Given the description of an element on the screen output the (x, y) to click on. 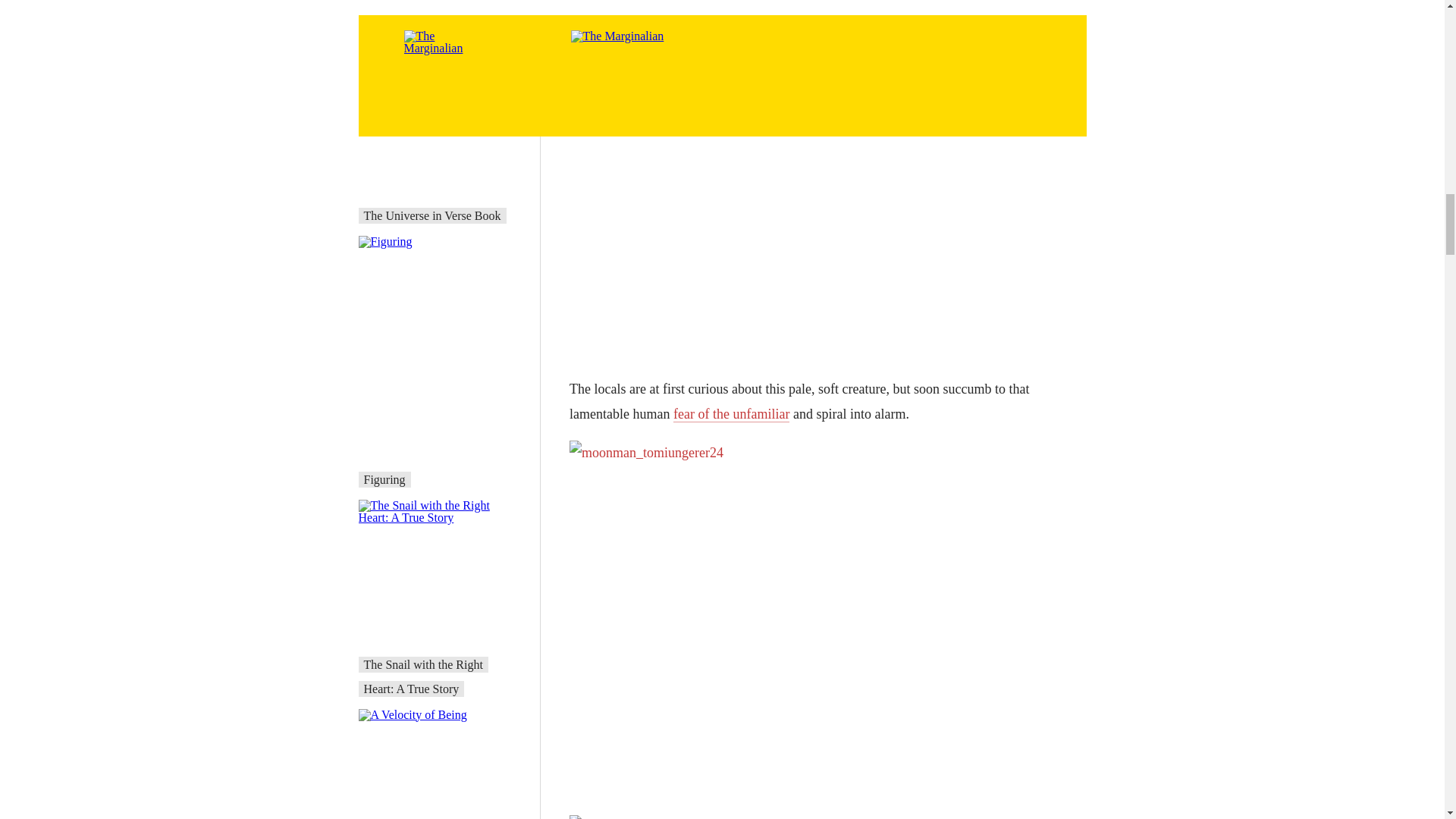
The Snail with the Right Heart: A True Story (423, 676)
Figuring (385, 479)
The Universe in Verse Book (432, 215)
